Given the description of an element on the screen output the (x, y) to click on. 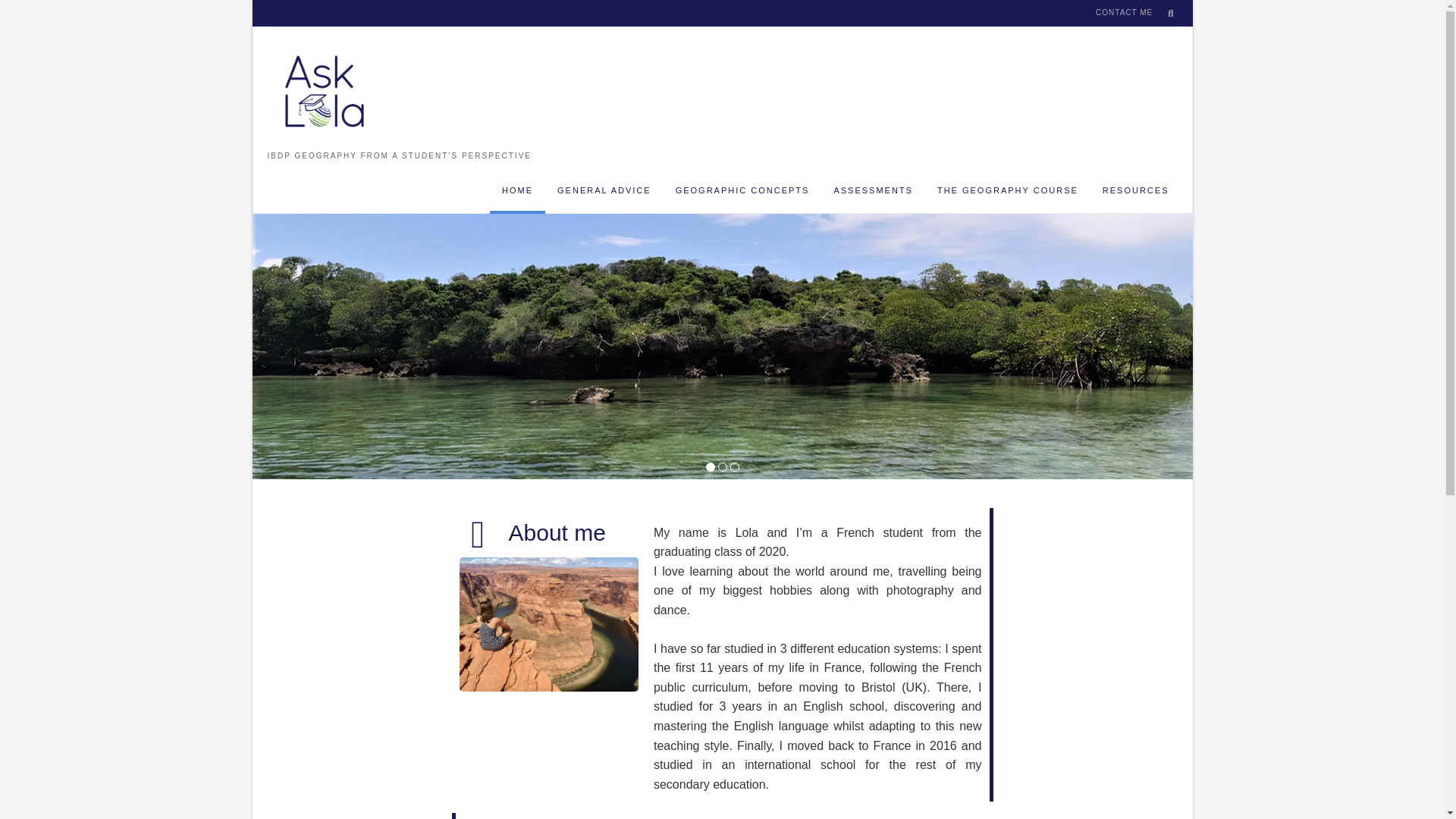
GEOGRAPHIC CONCEPTS (742, 195)
ASSESSMENTS (872, 195)
CONTACT ME (1123, 13)
RESOURCES (1135, 195)
THE GEOGRAPHY COURSE (1007, 195)
GENERAL ADVICE (603, 195)
HOME (516, 195)
